Given the description of an element on the screen output the (x, y) to click on. 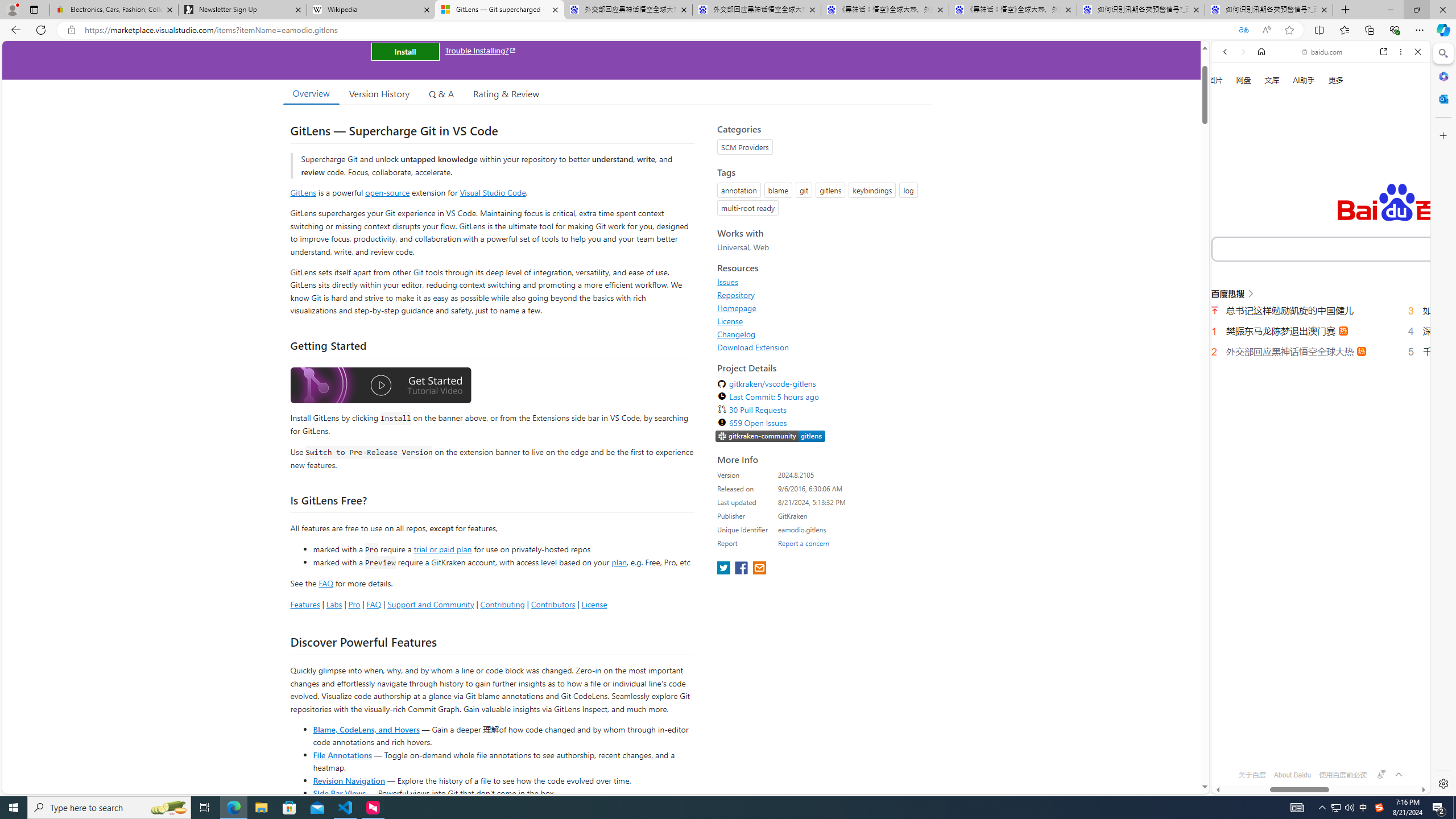
FAQ (373, 603)
open-source (387, 192)
Download Extension (820, 346)
Watch the GitLens Getting Started video (380, 385)
share extension on facebook (742, 568)
